Given the description of an element on the screen output the (x, y) to click on. 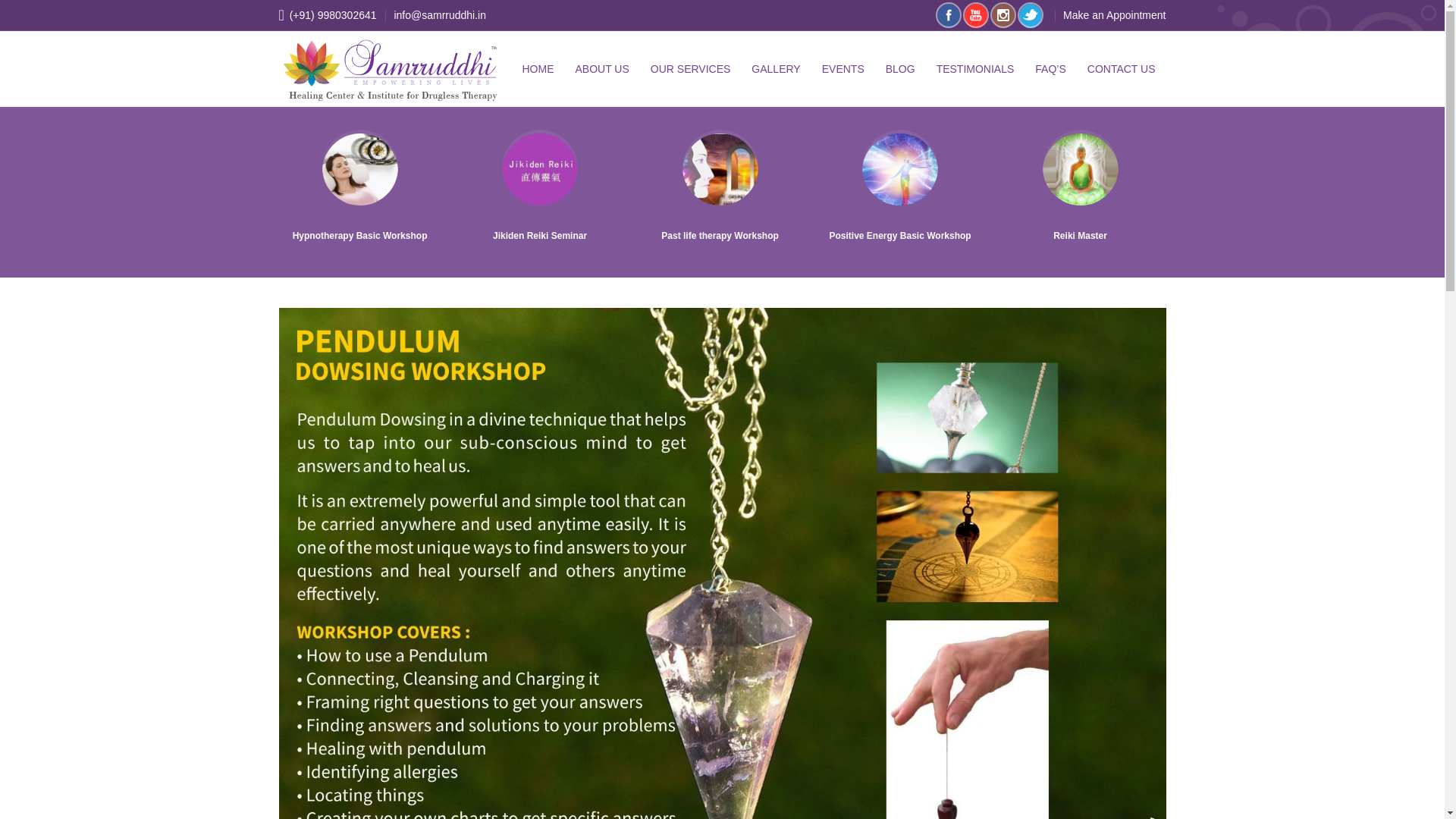
HOME (537, 68)
OUR SERVICES (690, 68)
ABOUT US (602, 68)
Make an Appointment (1110, 15)
Samrruddhi (389, 70)
Samrruddhi (389, 71)
